Given the description of an element on the screen output the (x, y) to click on. 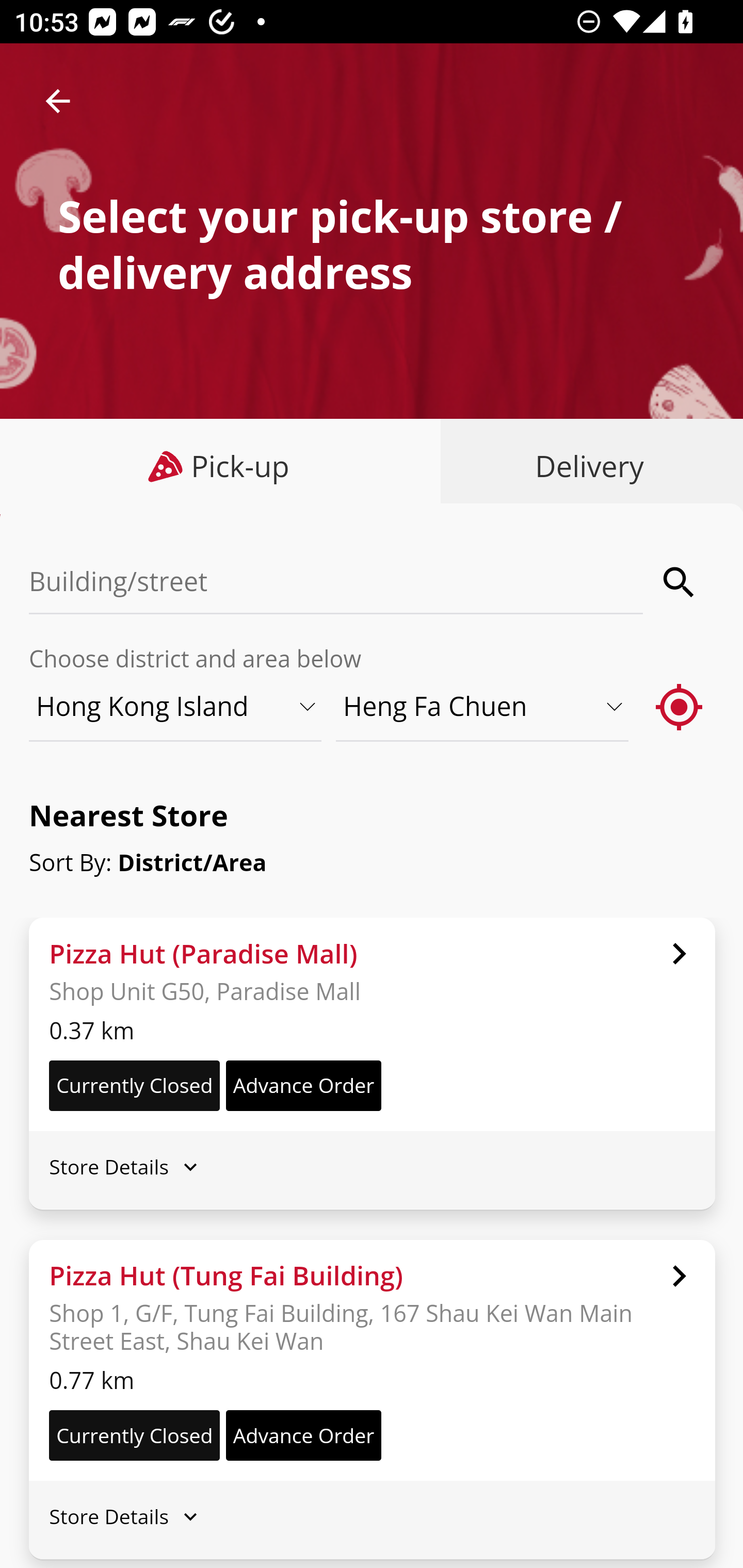
arrow_back (58, 100)
Pick-up (221, 466)
Delivery (585, 466)
search (679, 582)
gps_fixed (679, 706)
Hong Kong Island (175, 706)
Heng Fa Chuen (482, 706)
Store Details (371, 1167)
Store Details (371, 1516)
